Given the description of an element on the screen output the (x, y) to click on. 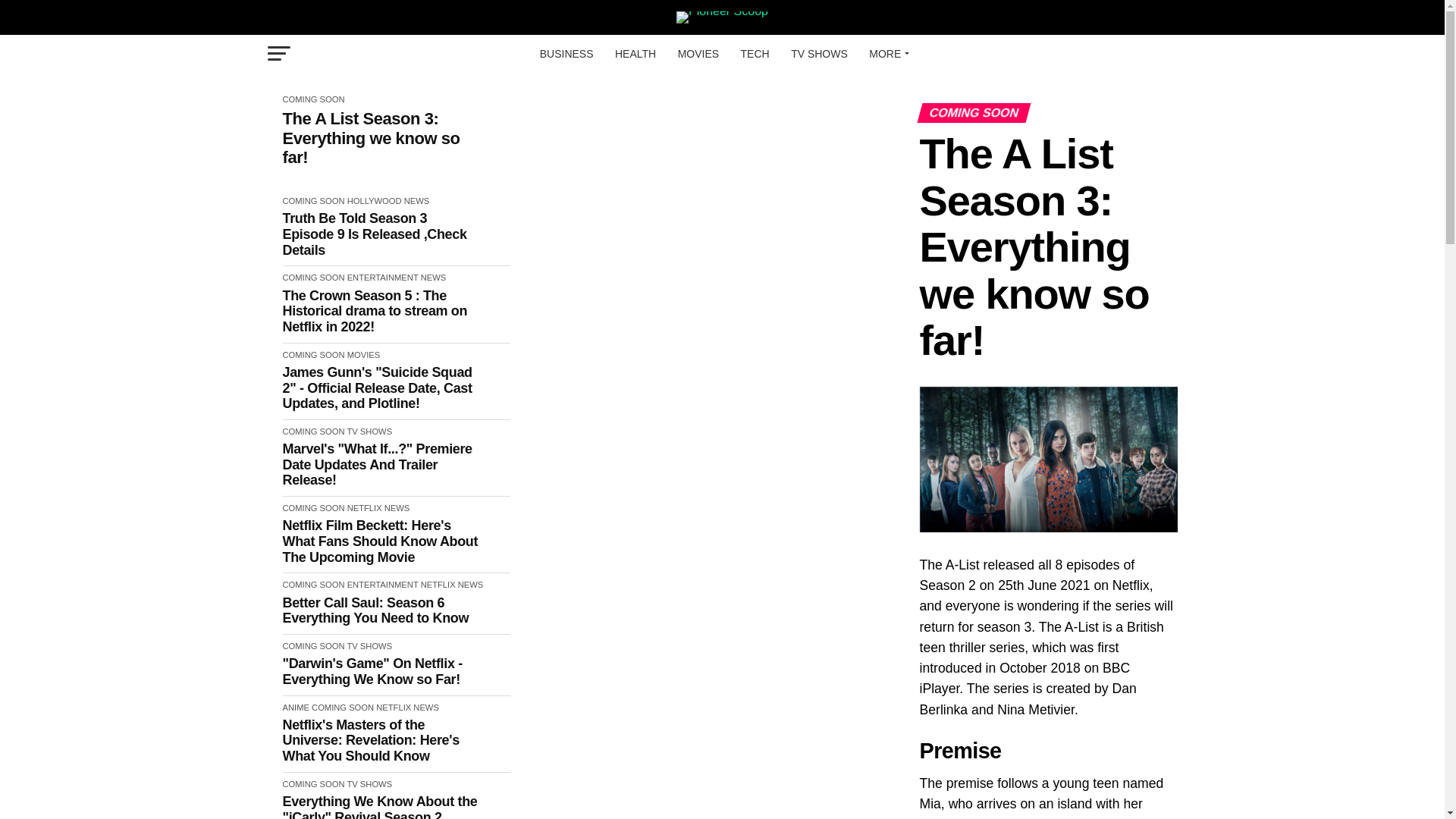
TECH (755, 53)
COMING SOON (312, 99)
BUSINESS (566, 53)
TV SHOWS (819, 53)
MORE (887, 53)
HEALTH (635, 53)
MOVIES (698, 53)
